Given the description of an element on the screen output the (x, y) to click on. 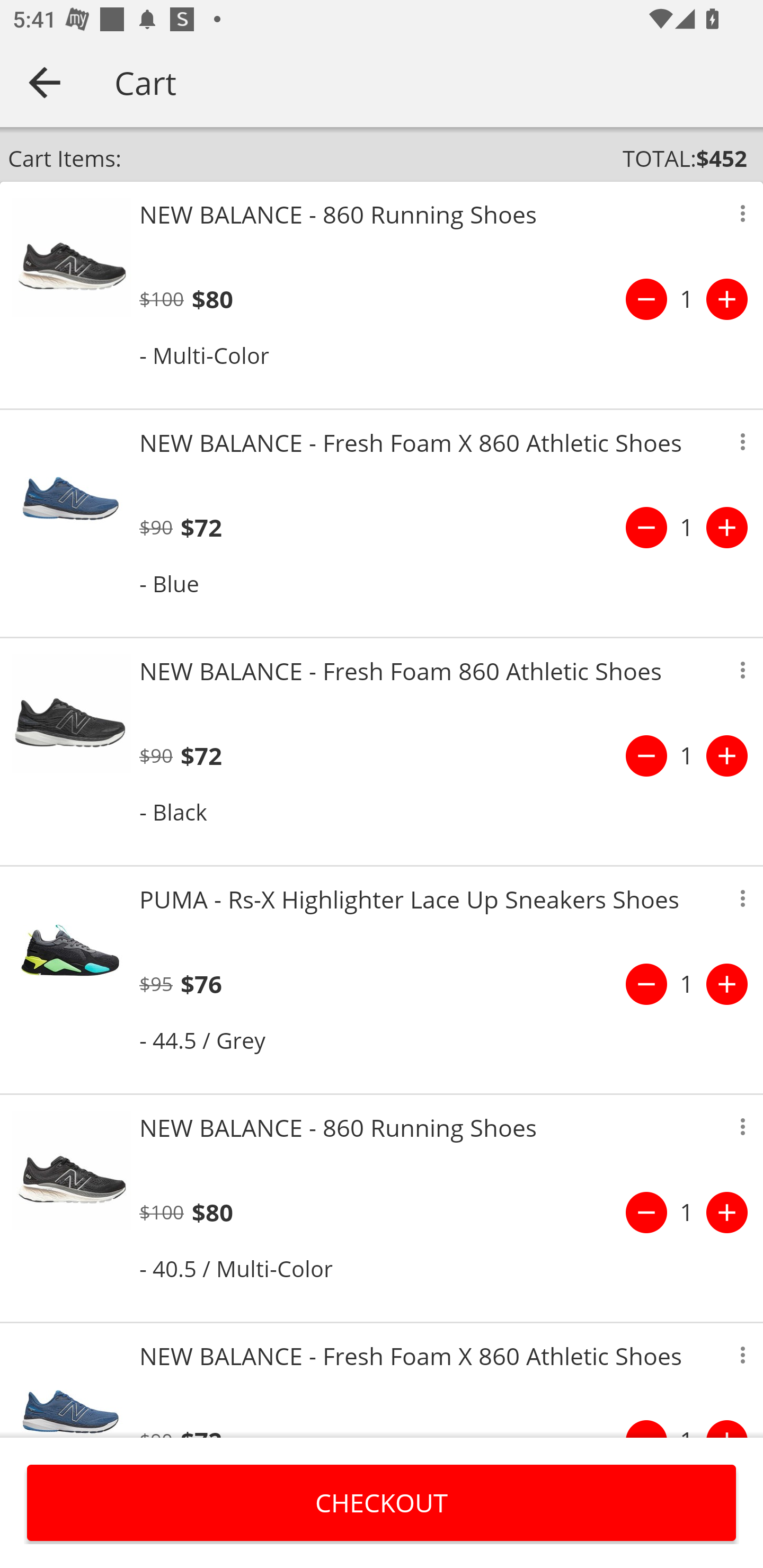
Navigate up (44, 82)
1 (686, 299)
1 (686, 527)
1 (686, 755)
1 (686, 984)
1 (686, 1211)
CHECKOUT (381, 1502)
